Given the description of an element on the screen output the (x, y) to click on. 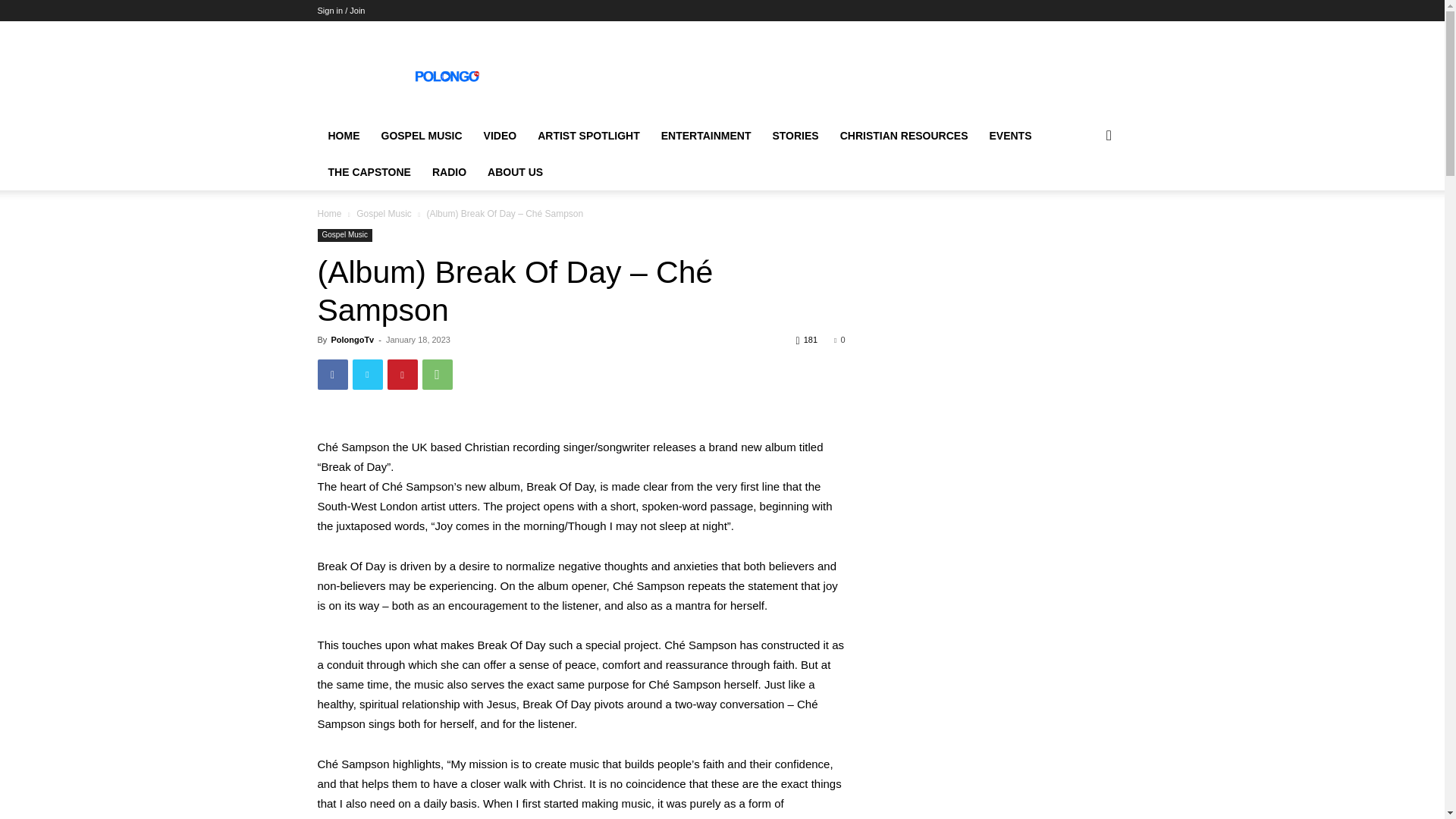
ABOUT US (515, 171)
Pinterest (401, 374)
RADIO (449, 171)
Search (1085, 196)
GOSPEL MUSIC (420, 135)
Gospel Music (384, 213)
0 (839, 338)
Twitter (366, 374)
ARTIST SPOTLIGHT (588, 135)
Facebook (332, 374)
PolongoTv (352, 338)
ENTERTAINMENT (705, 135)
Gospel Music (344, 235)
WhatsApp (436, 374)
Home (328, 213)
